Given the description of an element on the screen output the (x, y) to click on. 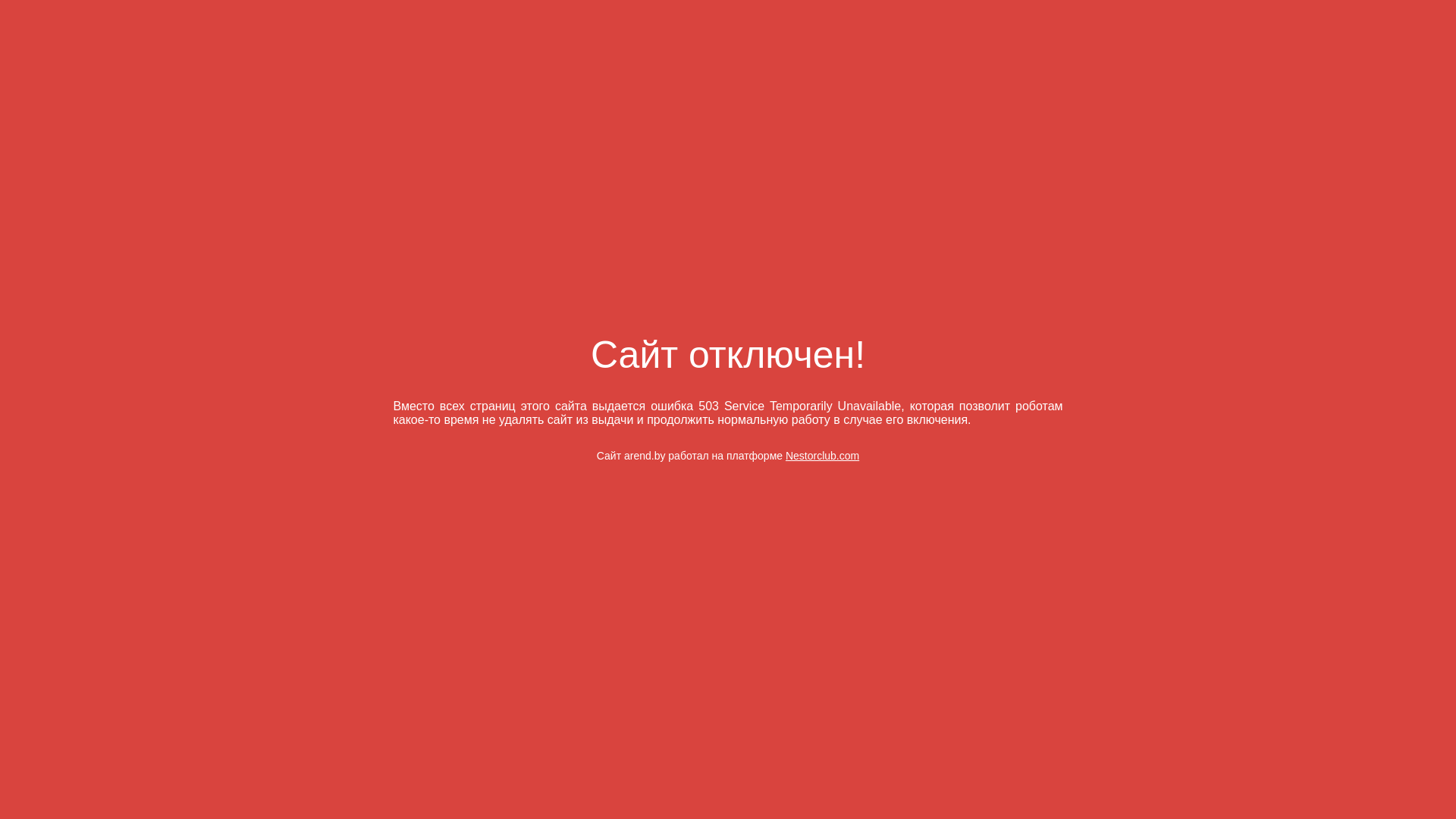
Nestorclub.com Element type: text (822, 455)
